Given the description of an element on the screen output the (x, y) to click on. 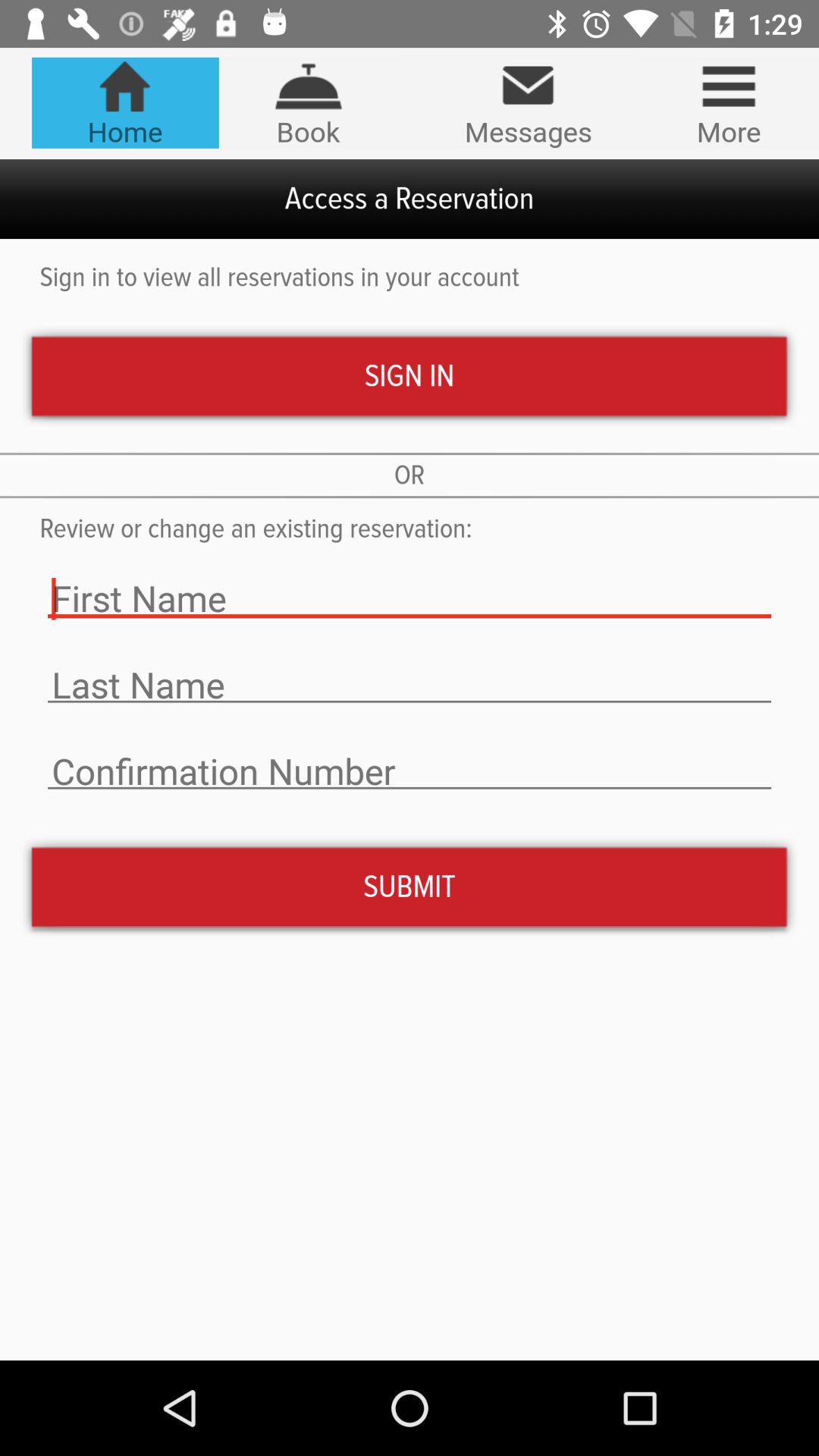
confirmation number (409, 771)
